Given the description of an element on the screen output the (x, y) to click on. 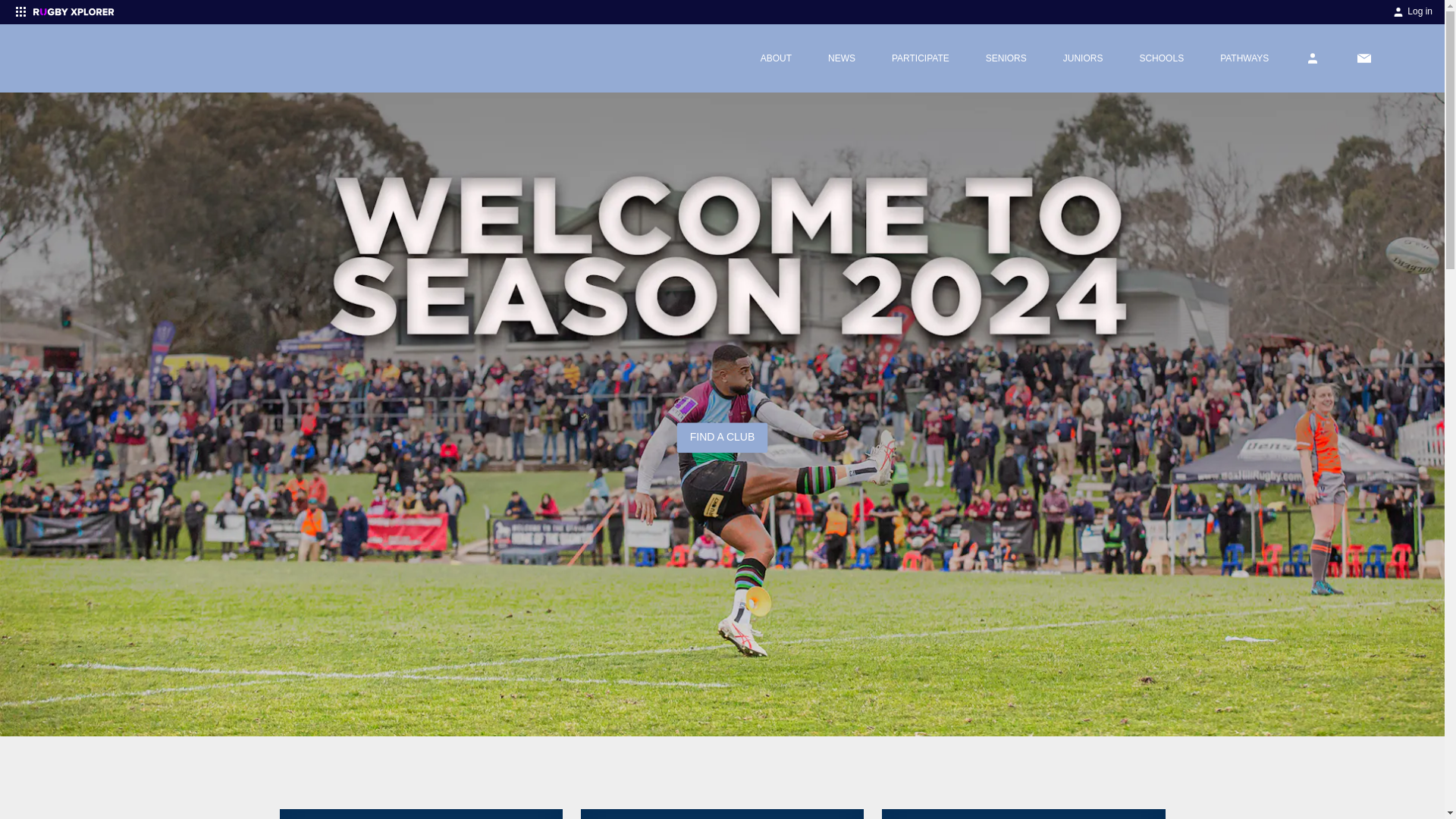
user (1312, 58)
email (1363, 58)
